Given the description of an element on the screen output the (x, y) to click on. 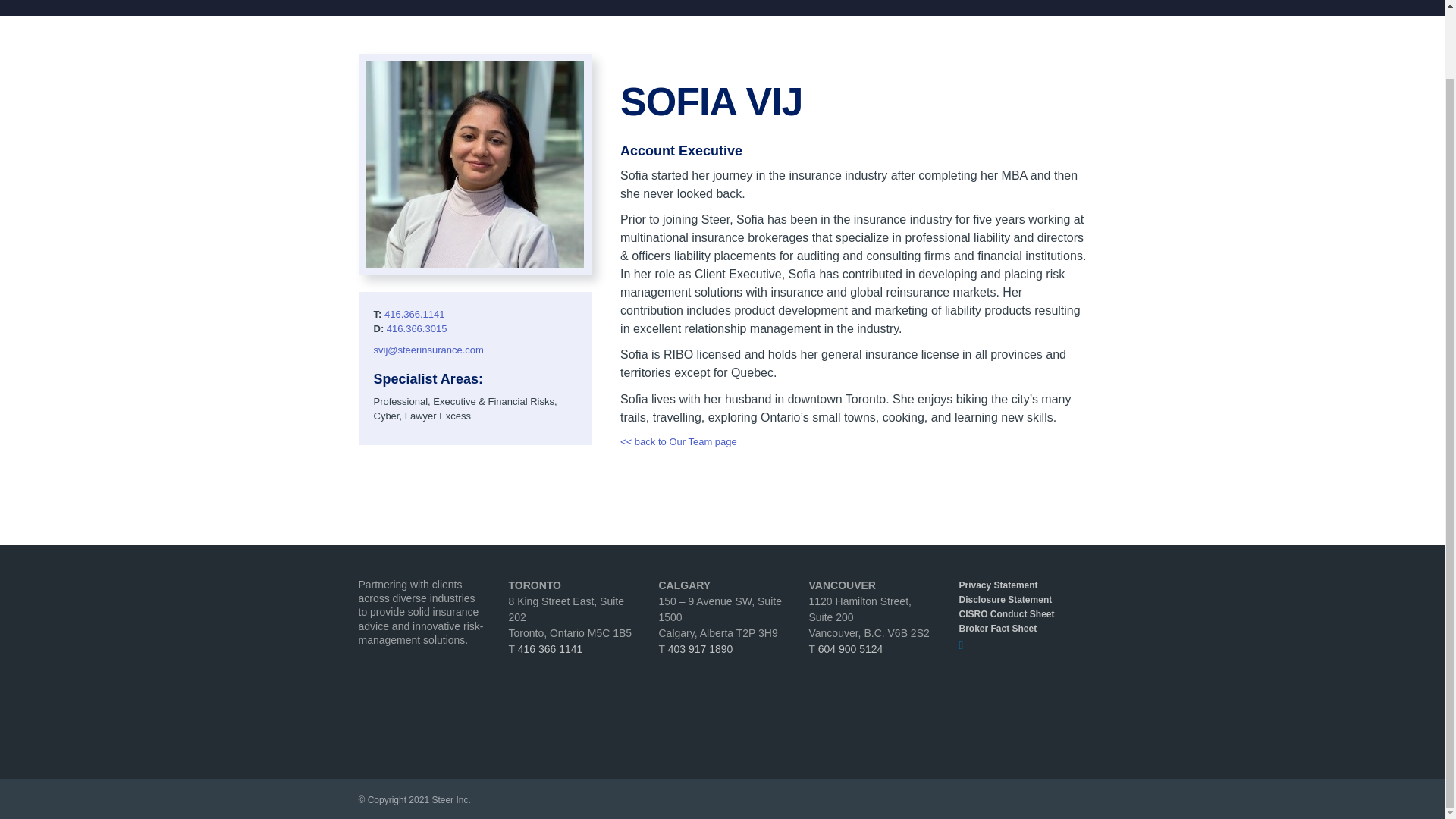
Contact (1066, 3)
Our Team (987, 3)
Sofia 2 Cropped 3 (474, 164)
403 917 1890 (700, 648)
Disclosure Statement (1021, 599)
Privacy Statement (1021, 585)
604 900 5124 (850, 648)
416.366.1141 (414, 314)
Expertise (906, 3)
416.366.3015 (416, 328)
Broker Fact Sheet (1021, 628)
About Us (823, 3)
416 366 1141 (550, 648)
CISRO Conduct Sheet (1021, 614)
